Given the description of an element on the screen output the (x, y) to click on. 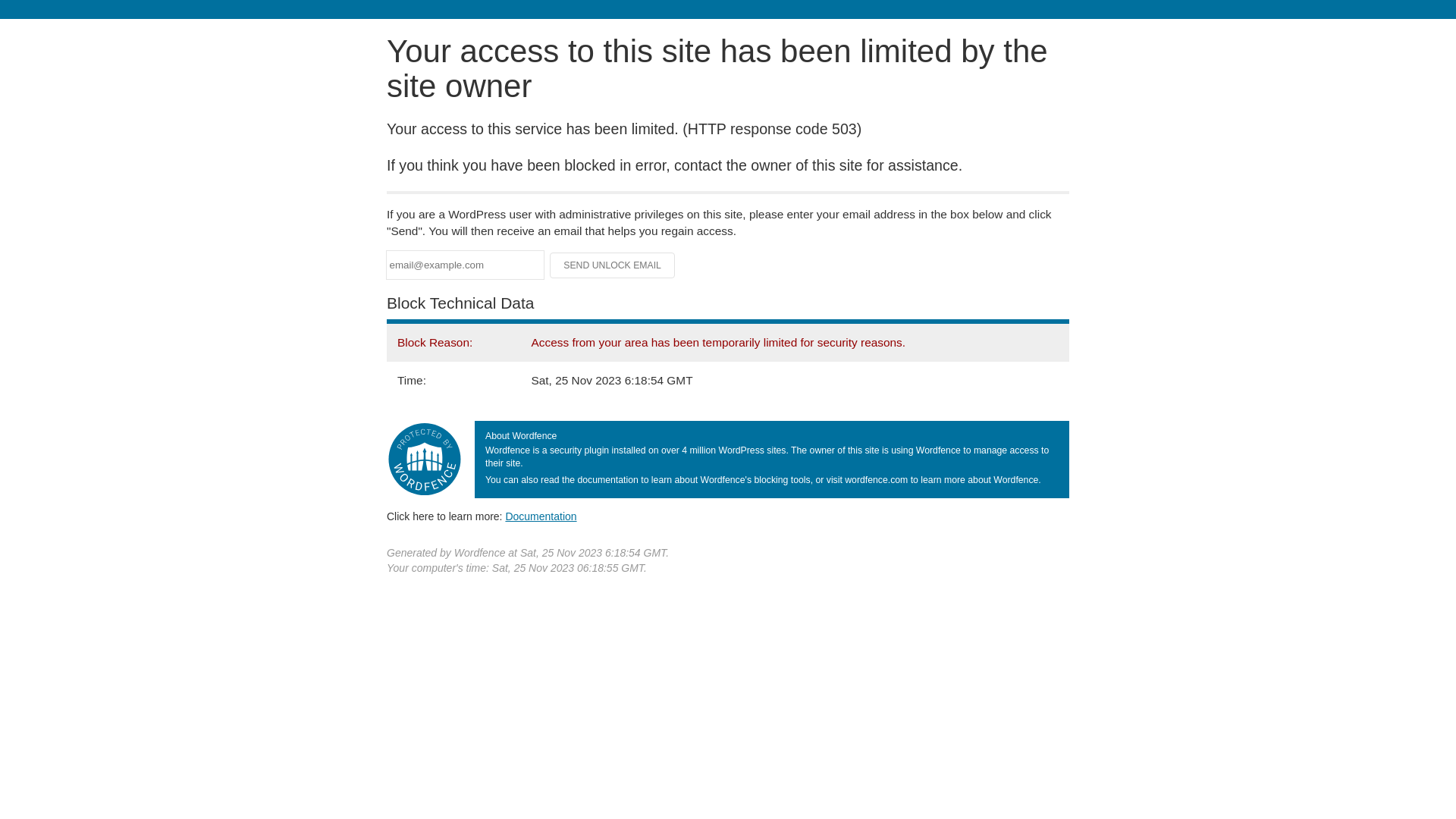
Documentation Element type: text (540, 516)
Send Unlock Email Element type: text (612, 265)
